Given the description of an element on the screen output the (x, y) to click on. 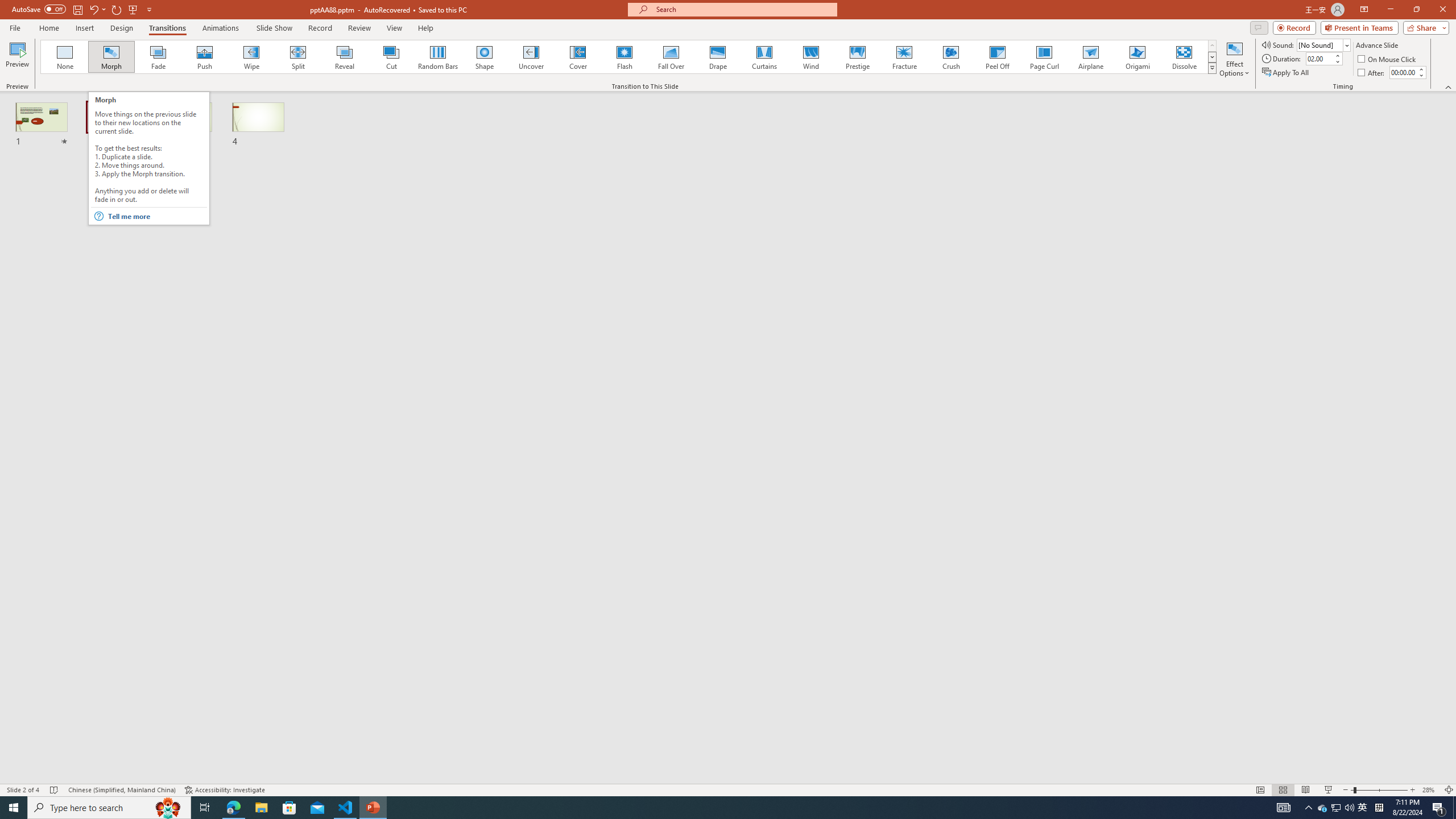
Prestige (857, 56)
Fall Over (670, 56)
Wind (810, 56)
Tell me more (156, 216)
